Given the description of an element on the screen output the (x, y) to click on. 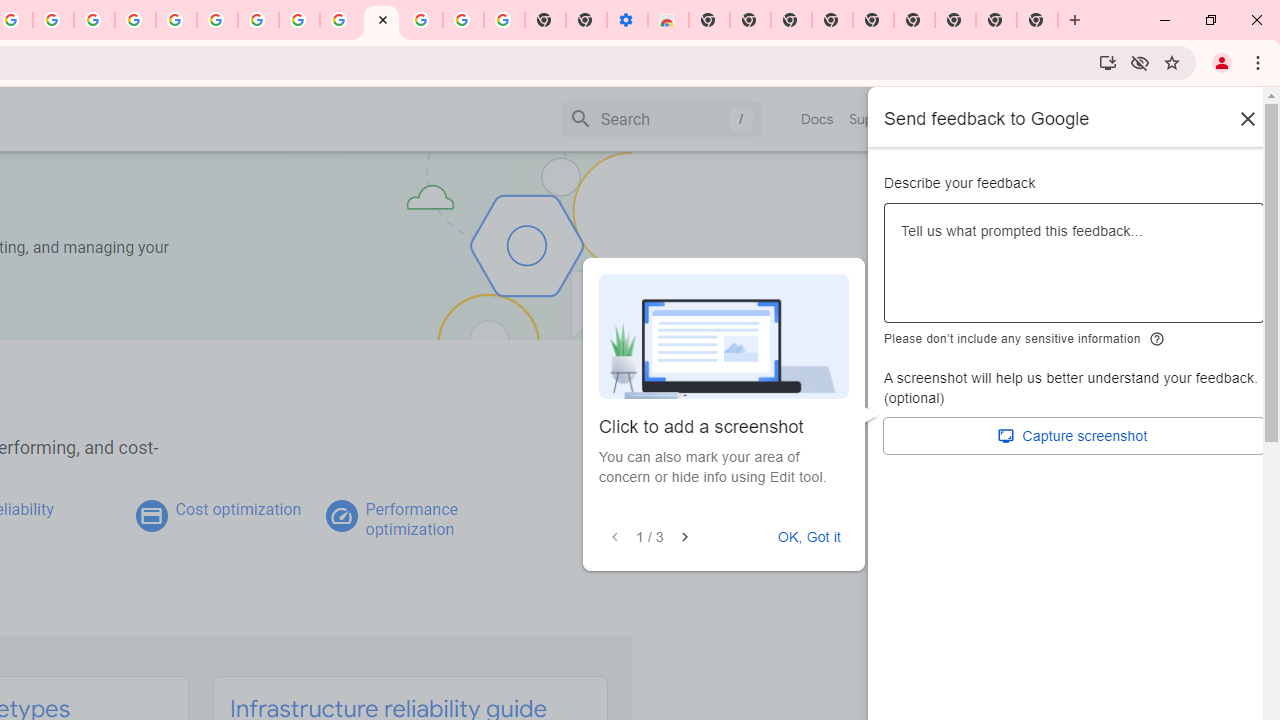
Ad Settings (135, 20)
OK, Got it (809, 537)
Previous (614, 537)
English (985, 118)
Sign in - Google Accounts (421, 20)
Turn cookies on or off - Computer - Google Account Help (503, 20)
New Tab (708, 20)
Create your Google Account (299, 20)
Settings - Accessibility (626, 20)
Next (683, 537)
Google Account Help (462, 20)
